Given the description of an element on the screen output the (x, y) to click on. 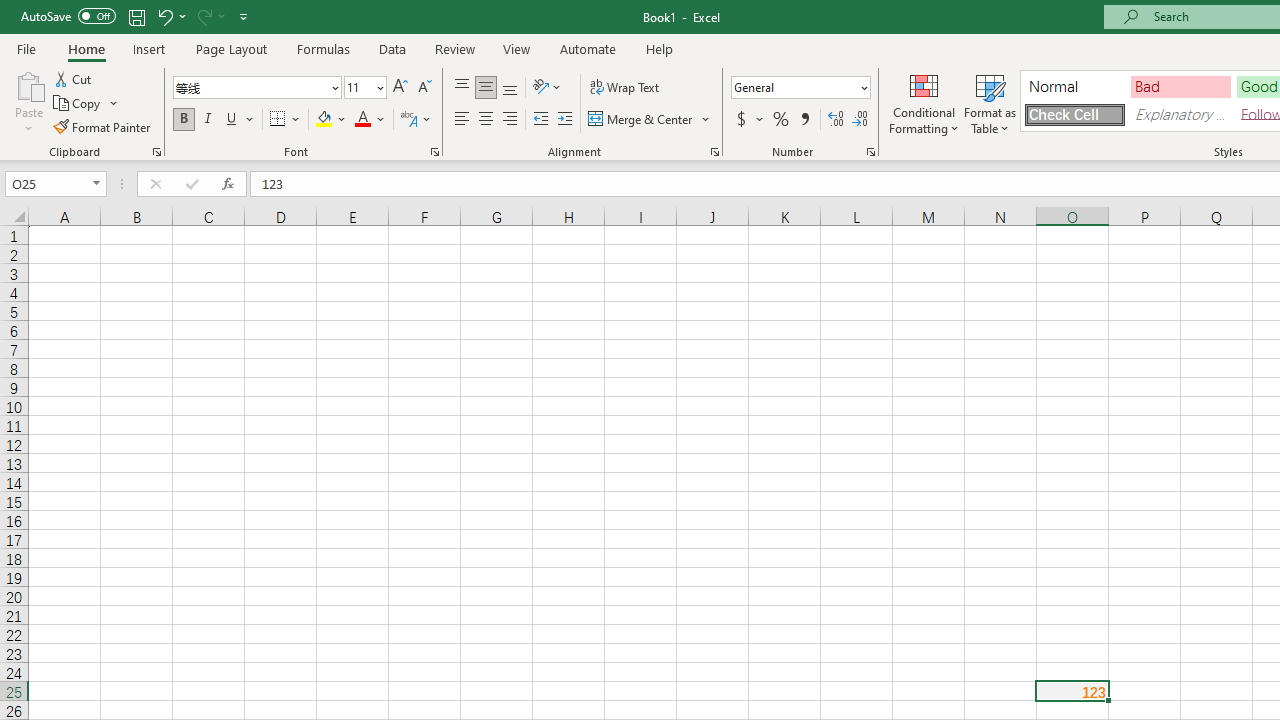
Align Right (509, 119)
Bottom Border (278, 119)
Fill Color RGB(255, 255, 0) (324, 119)
Paste (28, 102)
Number Format (800, 87)
Copy (85, 103)
Increase Indent (565, 119)
Font Size (365, 87)
Font Color (370, 119)
Merge & Center (641, 119)
Font (250, 87)
Format as Table (990, 102)
